Given the description of an element on the screen output the (x, y) to click on. 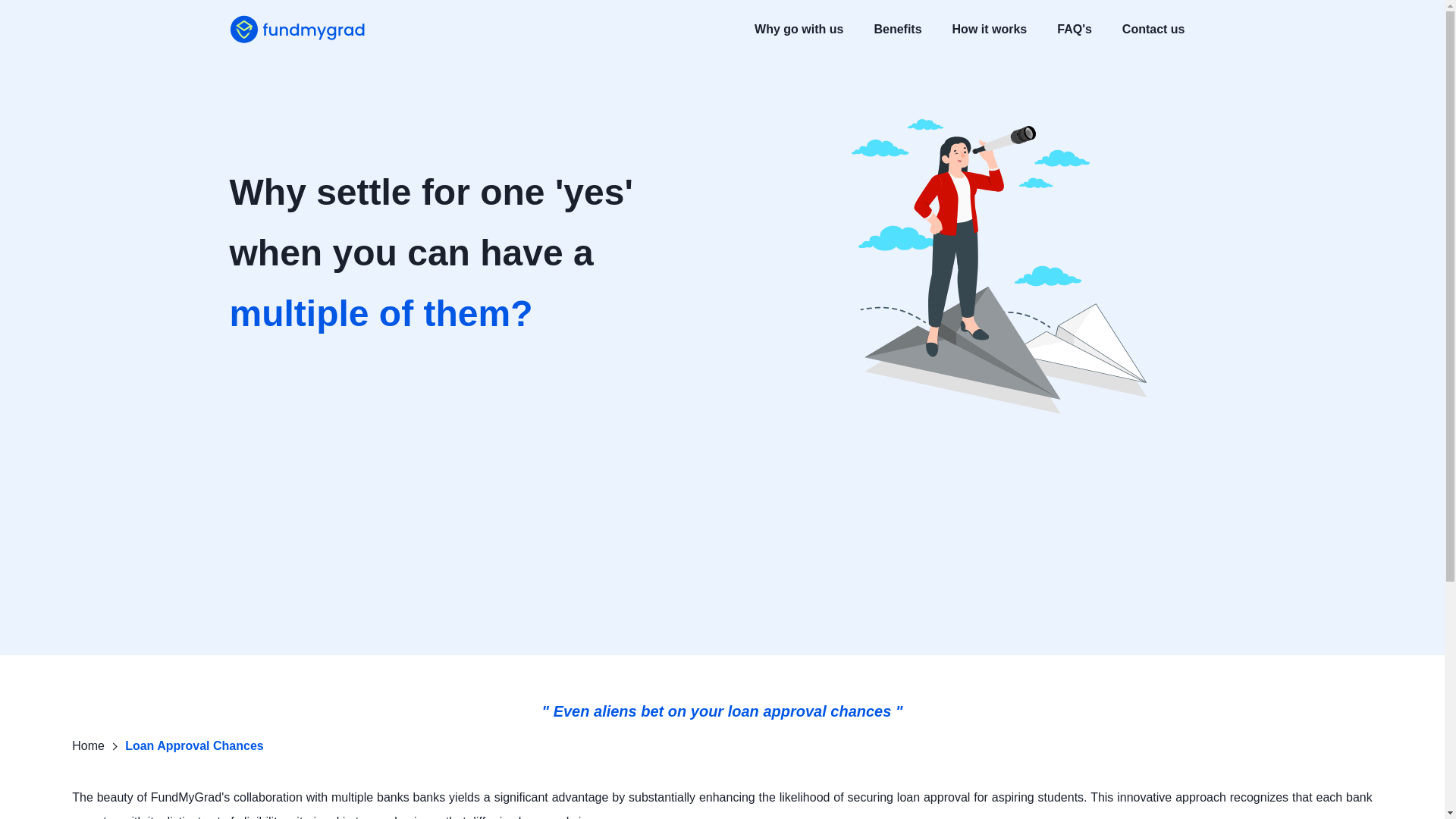
Why go with us (798, 29)
FAQ's (1074, 29)
How it works (989, 29)
Benefits (897, 29)
Home (87, 745)
Contact us (1153, 29)
